Given the description of an element on the screen output the (x, y) to click on. 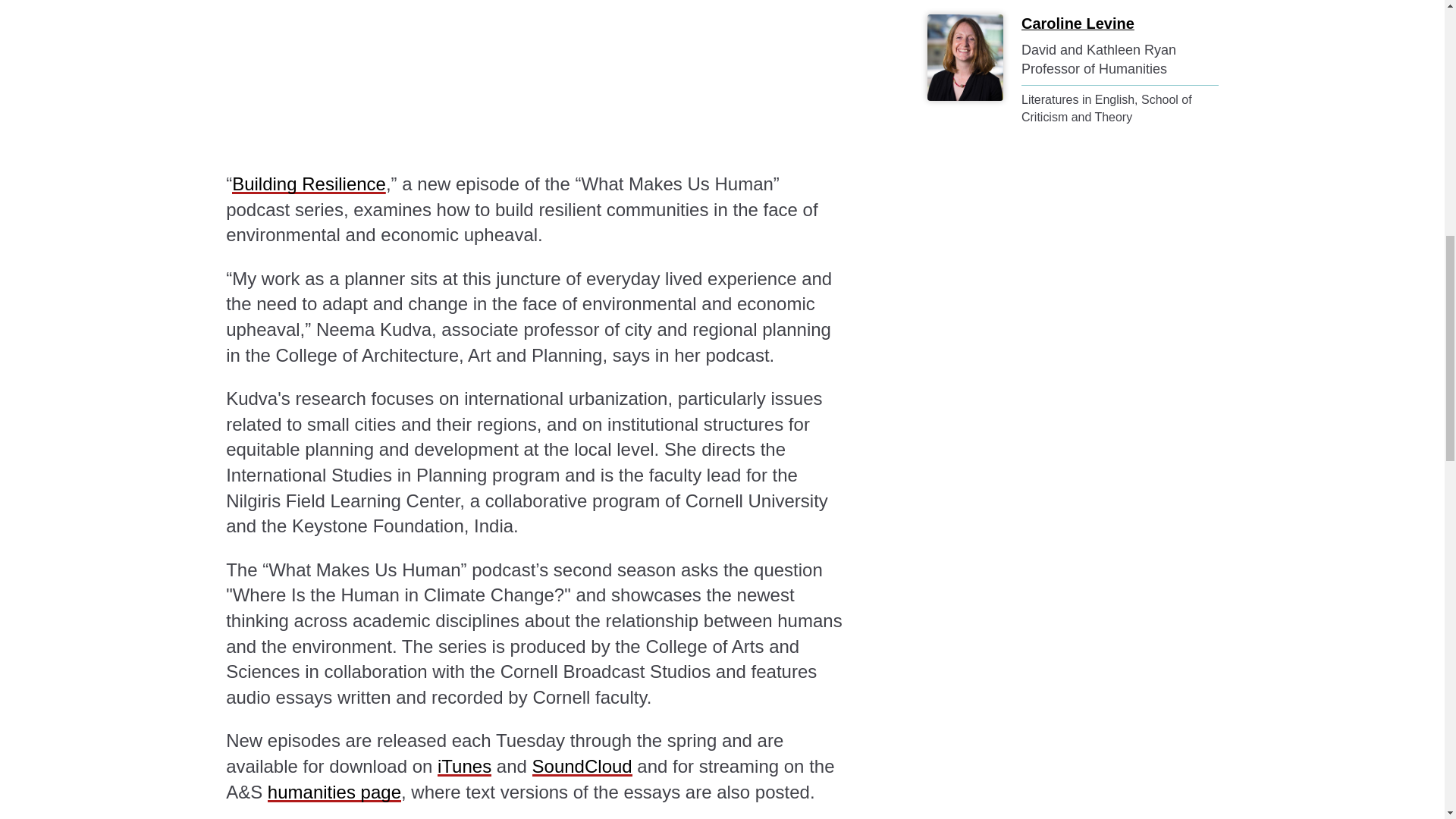
Building Resilience (534, 76)
